Given the description of an element on the screen output the (x, y) to click on. 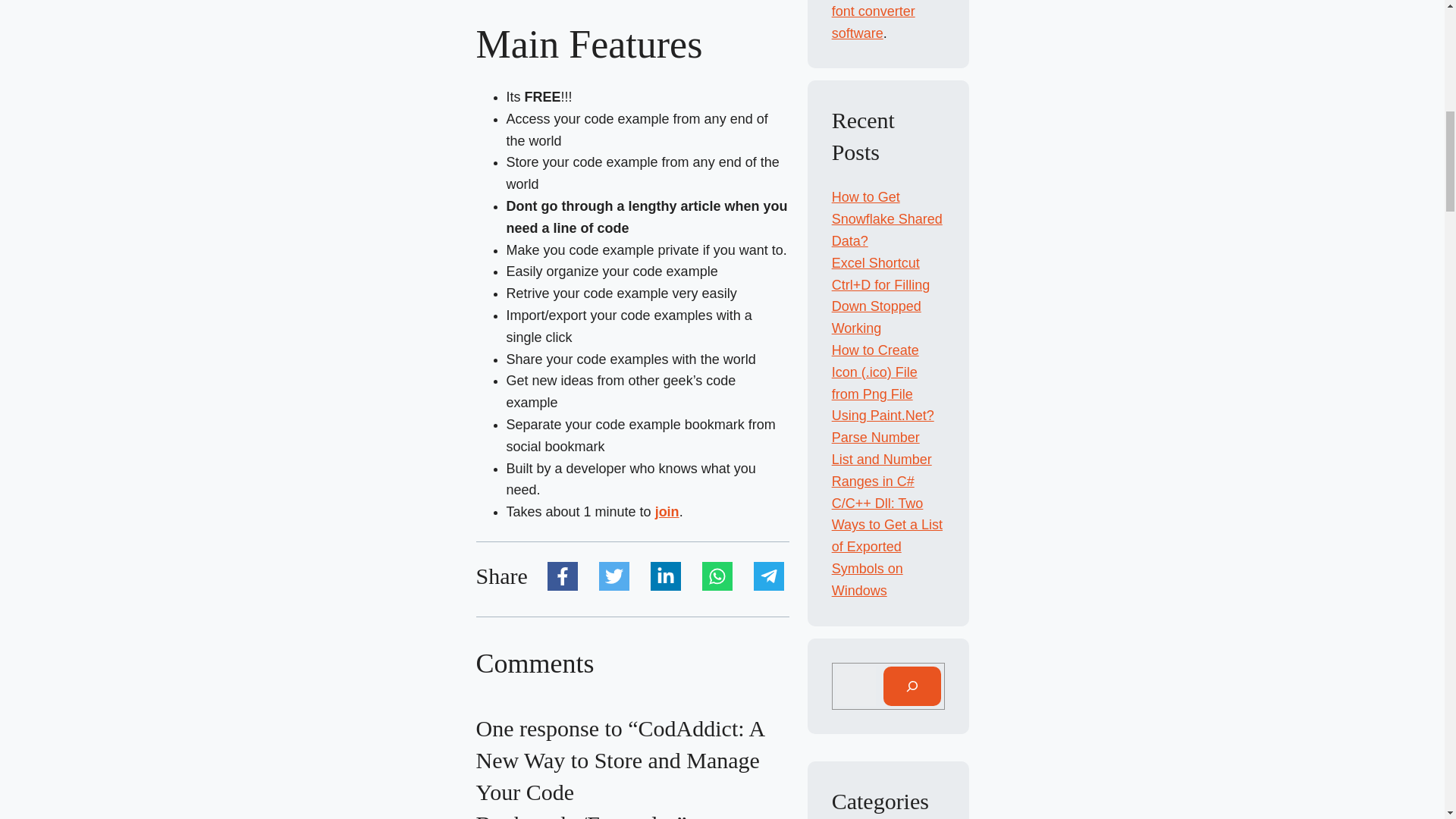
font converter software (873, 22)
join (667, 511)
How to Get Snowflake Shared Data? (886, 218)
